Given the description of an element on the screen output the (x, y) to click on. 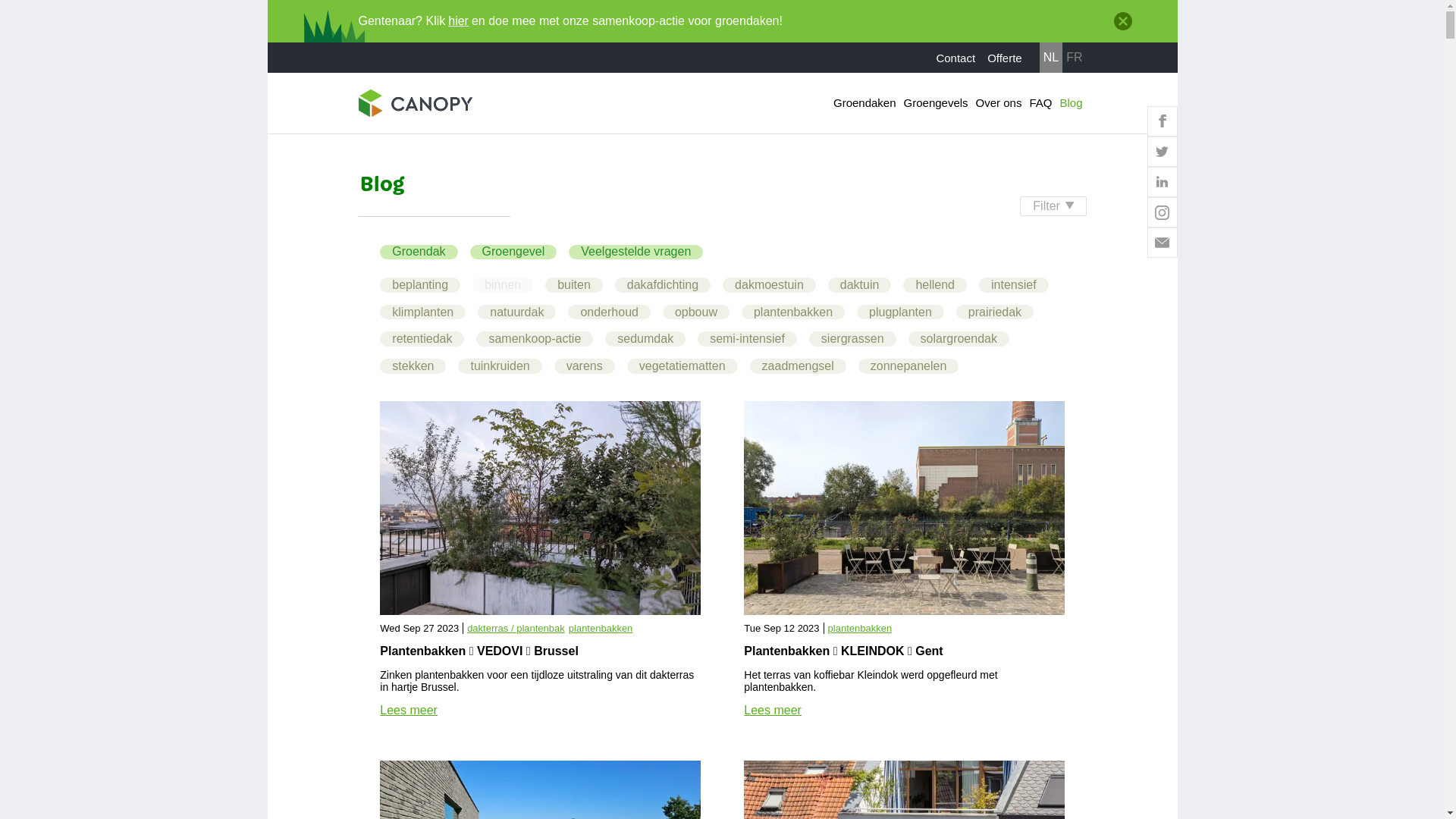
Offerte Element type: text (1004, 57)
Lees meer Element type: text (408, 709)
Blog Element type: text (1070, 102)
FAQ Element type: text (1040, 102)
Groendaken Element type: text (864, 102)
NL Element type: text (1050, 57)
Lees meer Element type: text (772, 709)
Over ons Element type: text (999, 102)
hier Element type: text (458, 20)
Groengevels Element type: text (936, 102)
Contact Element type: text (955, 57)
FR Element type: text (1073, 57)
Filter Element type: text (1052, 206)
